Given the description of an element on the screen output the (x, y) to click on. 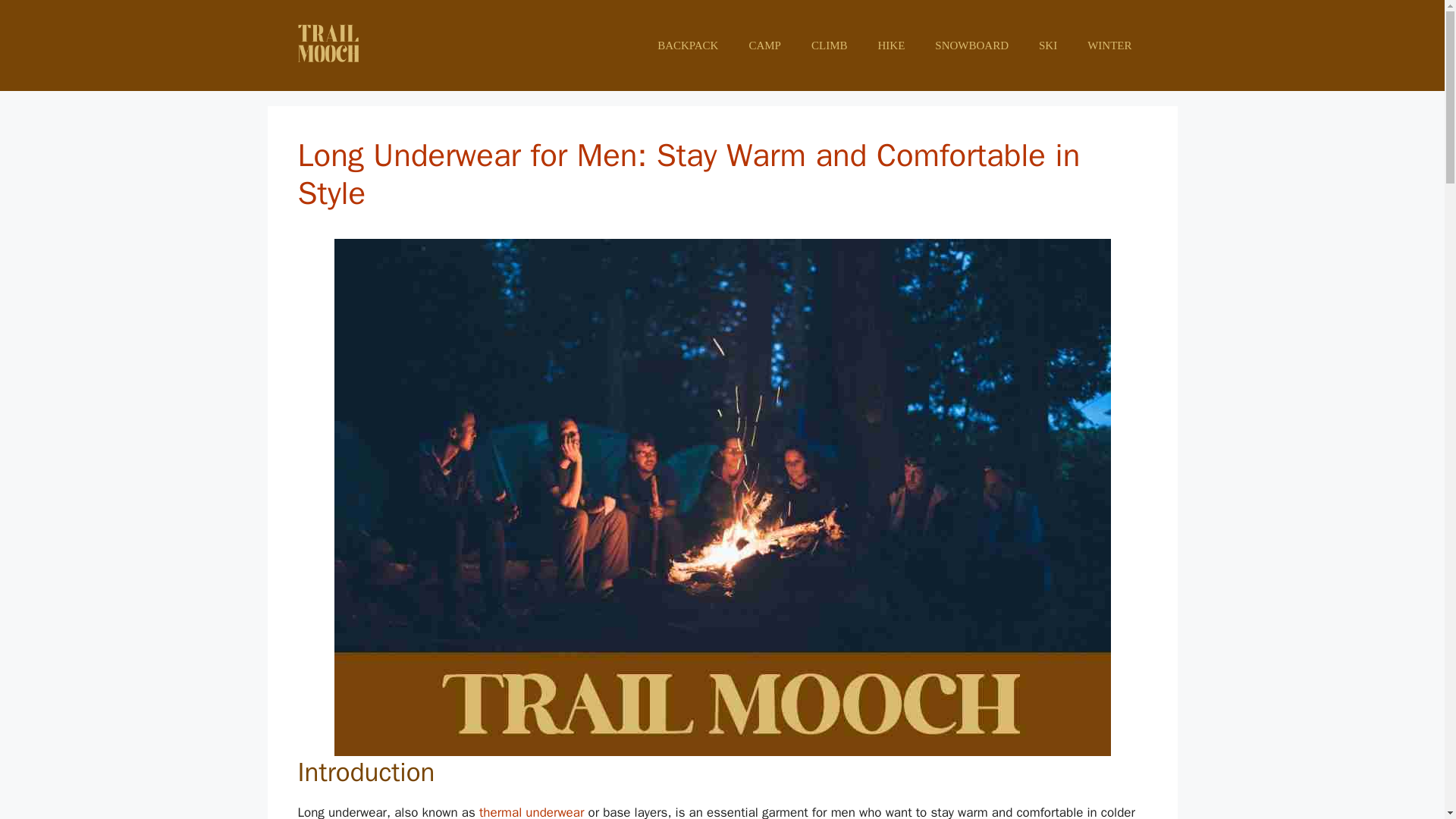
SKI (1047, 44)
thermal underwear (532, 811)
CAMP (764, 44)
SNOWBOARD (971, 44)
CLIMB (829, 44)
WINTER (1109, 44)
BACKPACK (687, 44)
HIKE (890, 44)
